Given the description of an element on the screen output the (x, y) to click on. 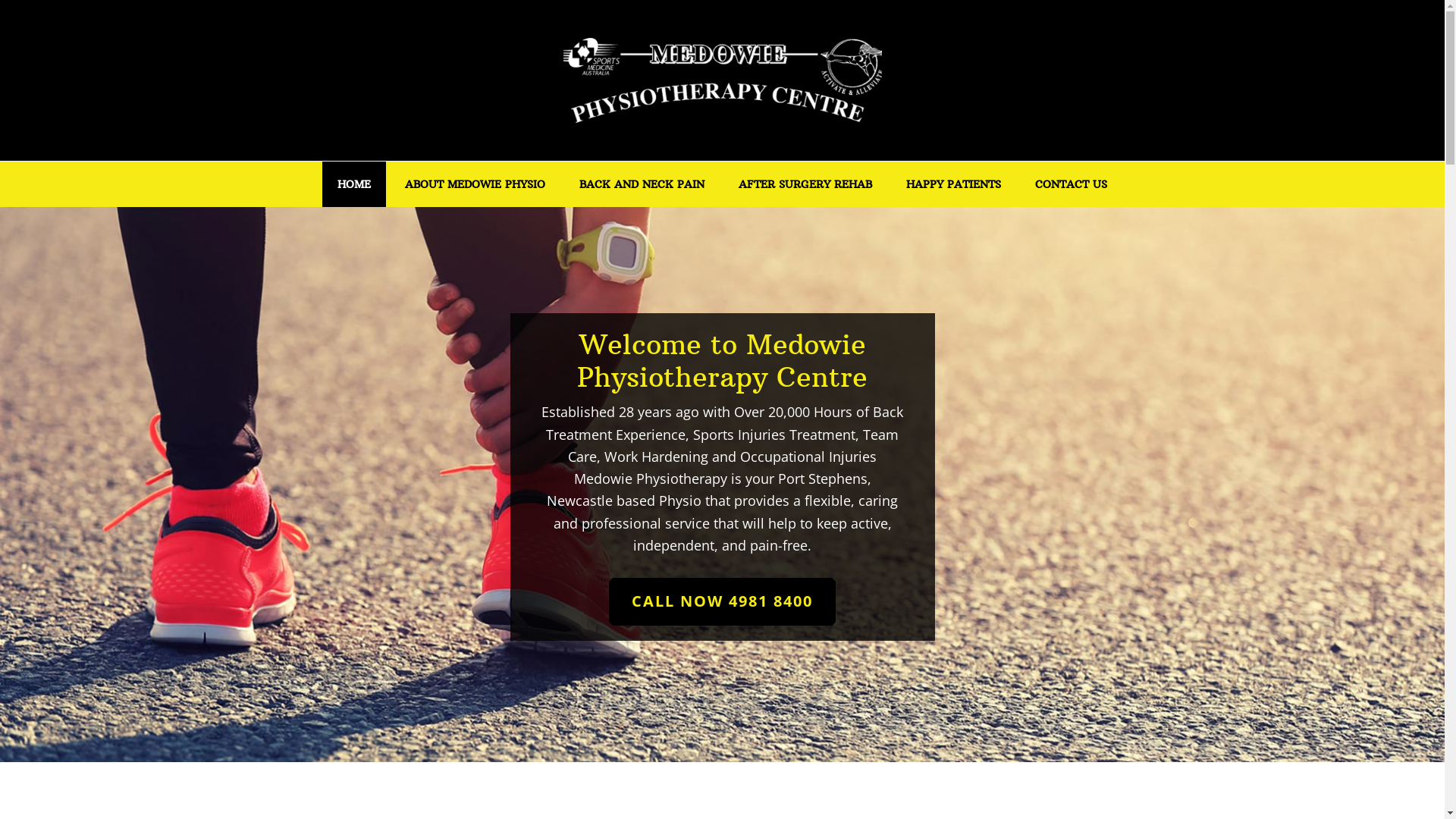
AFTER SURGERY REHAB Element type: text (805, 184)
CALL NOW 4981 8400 Element type: text (721, 601)
BACK AND NECK PAIN Element type: text (641, 184)
ABOUT MEDOWIE PHYSIO Element type: text (474, 184)
Skip to primary navigation Element type: text (0, 0)
HAPPY PATIENTS Element type: text (953, 184)
Medowie Physiotherapy Center - Medowie Nelson Bay Physio Element type: text (721, 79)
HOME Element type: text (353, 184)
CONTACT US Element type: text (1070, 184)
